Given the description of an element on the screen output the (x, y) to click on. 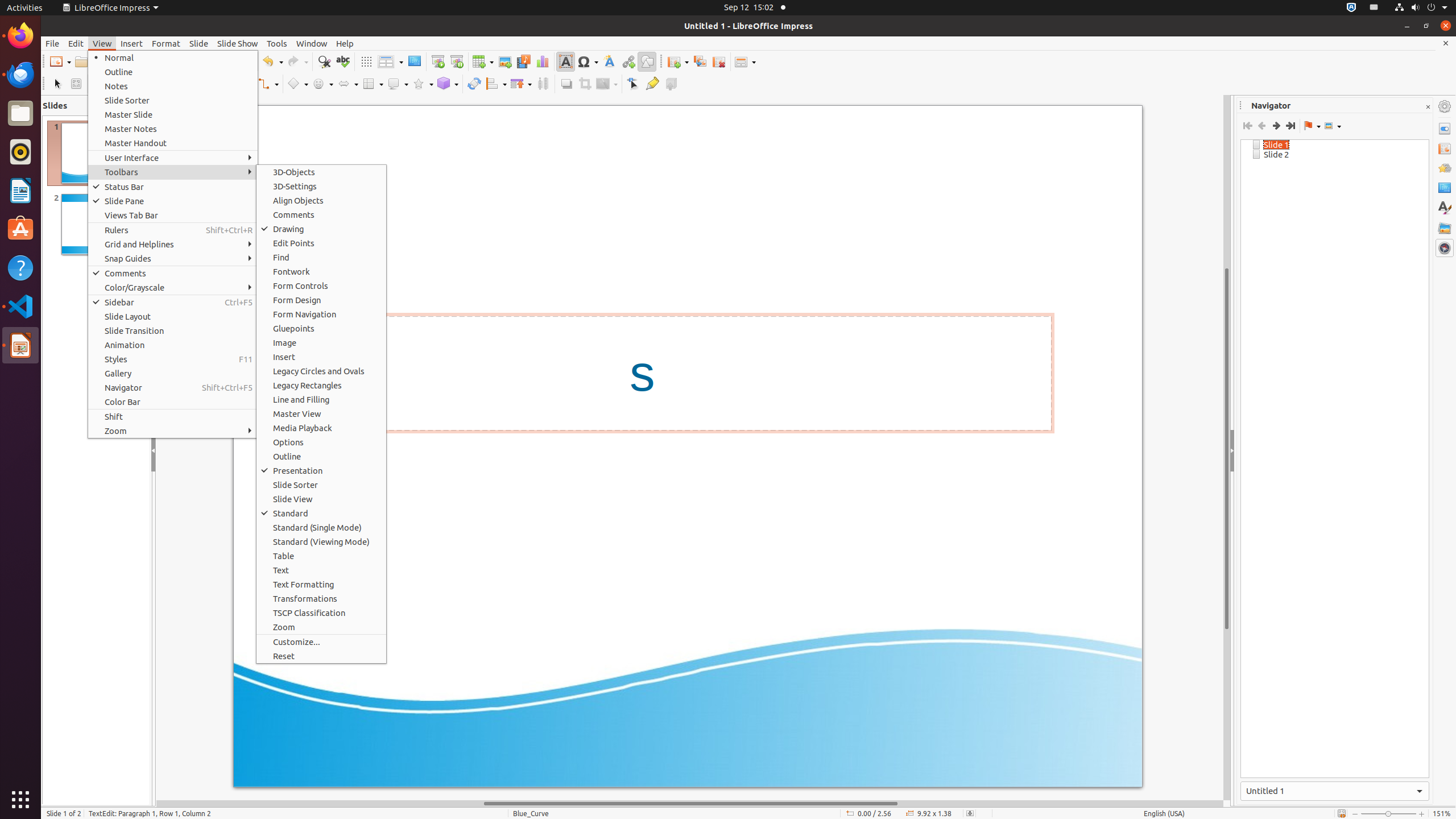
Transformations Element type: check-menu-item (321, 598)
Slide Transition Element type: menu-item (172, 330)
Outline Element type: check-menu-item (321, 456)
Slide Show Element type: menu (237, 43)
LibreOffice Impress Element type: push-button (20, 344)
